Given the description of an element on the screen output the (x, y) to click on. 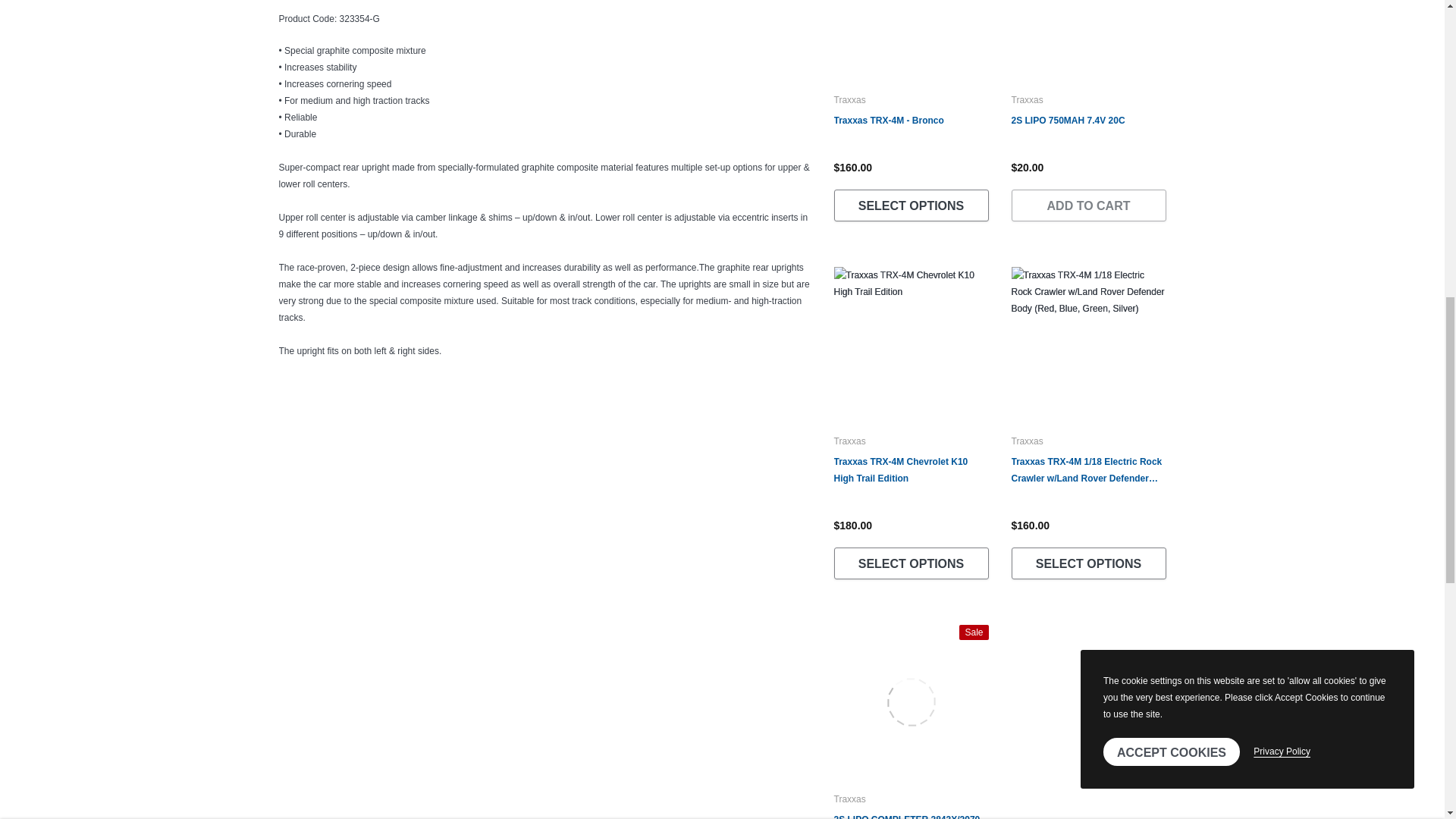
Traxxas (850, 798)
Traxxas (1027, 440)
Sold out (1090, 30)
1 (767, 30)
Traxxas (850, 99)
Traxxas (850, 440)
Traxxas (1027, 99)
